Given the description of an element on the screen output the (x, y) to click on. 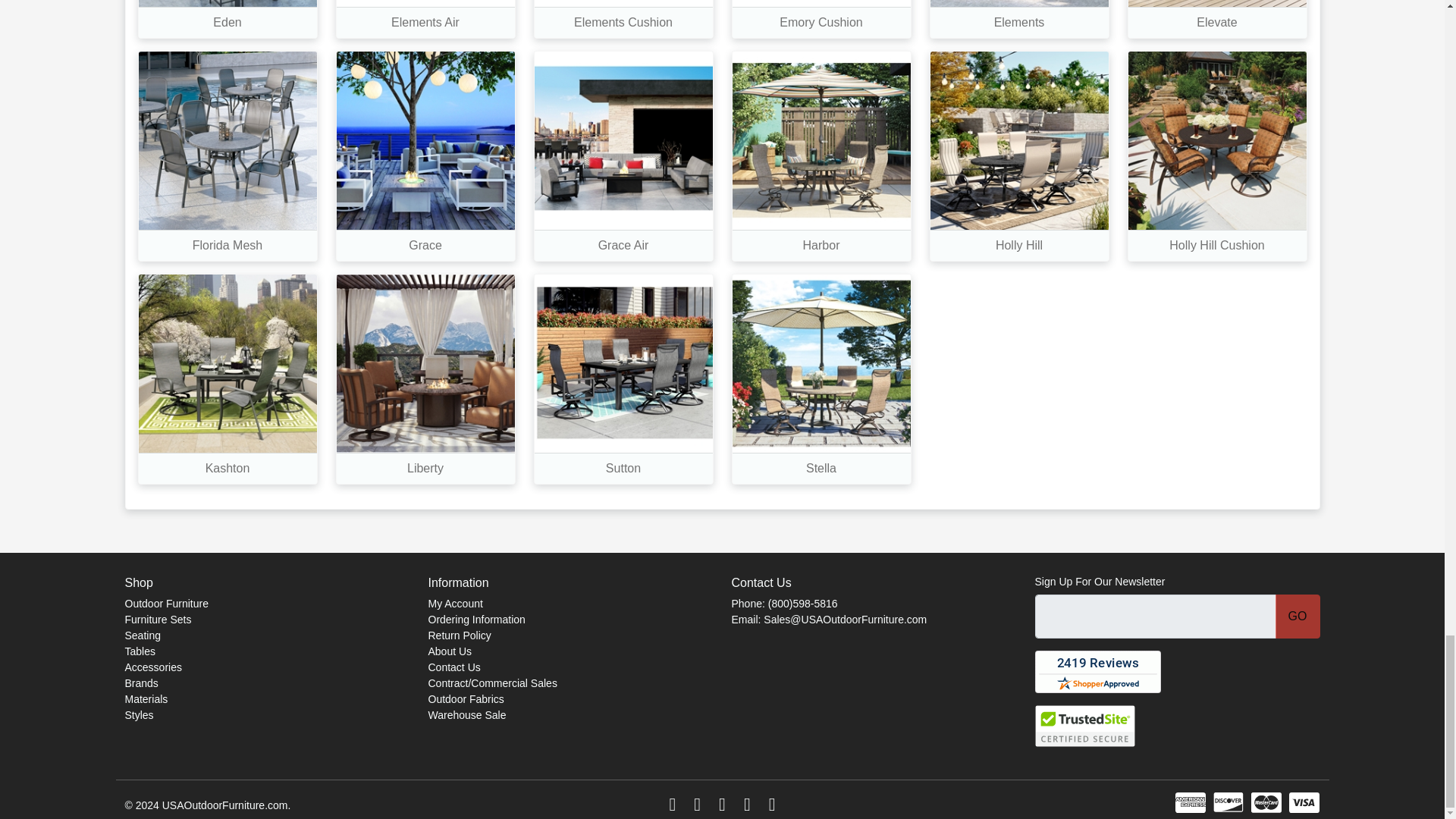
Go (1297, 616)
TrustedSite Certified (1083, 725)
